Given the description of an element on the screen output the (x, y) to click on. 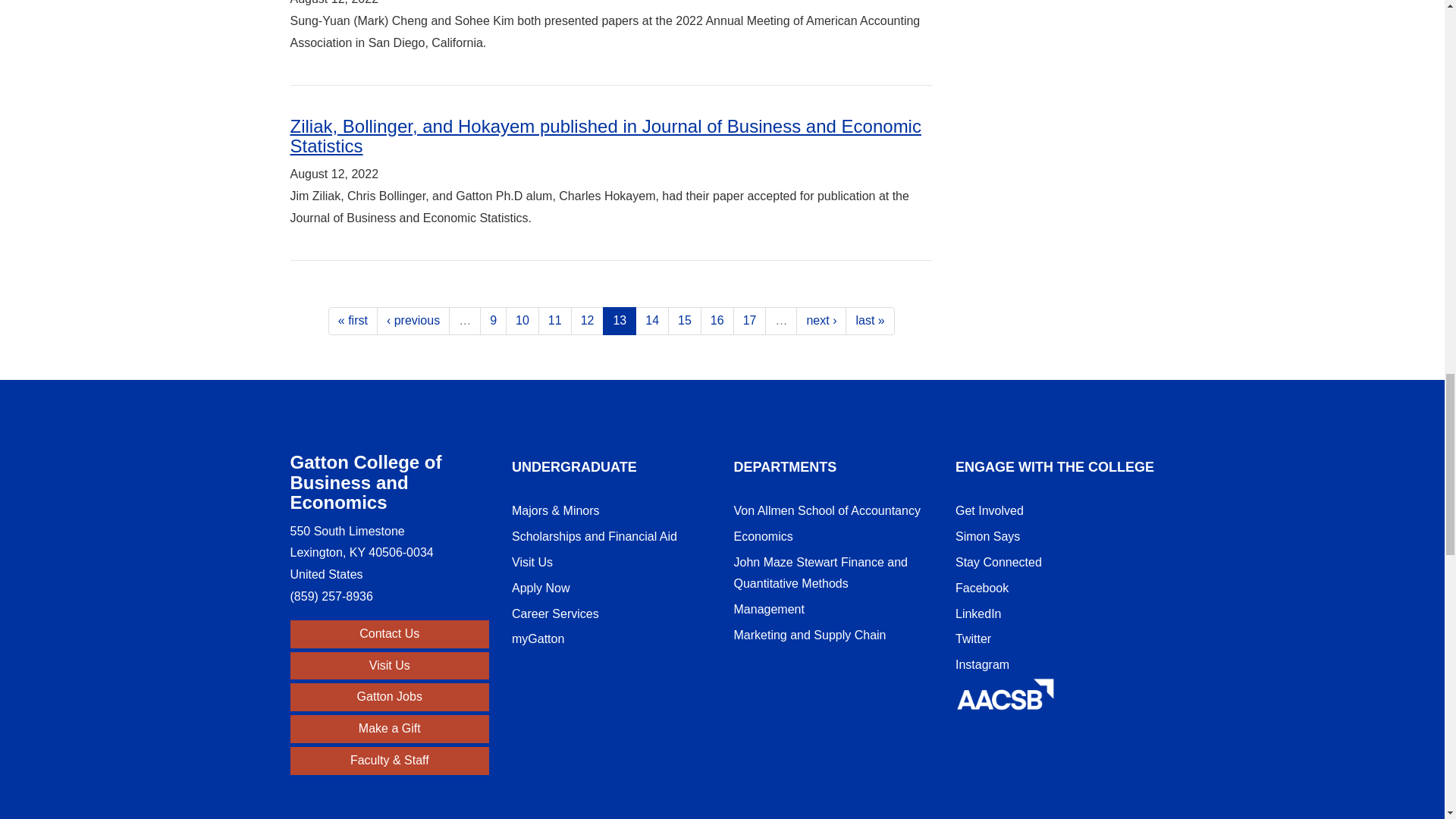
Go to page 9 (493, 320)
Contact Us (389, 633)
14 (651, 320)
10 (521, 320)
Go to previous page (413, 320)
15 (684, 320)
16 (716, 320)
Go to last page (869, 320)
Go to page 17 (750, 320)
Go to first page (353, 320)
12 (587, 320)
Go to page 11 (555, 320)
Visit Us (389, 665)
11 (555, 320)
